Given the description of an element on the screen output the (x, y) to click on. 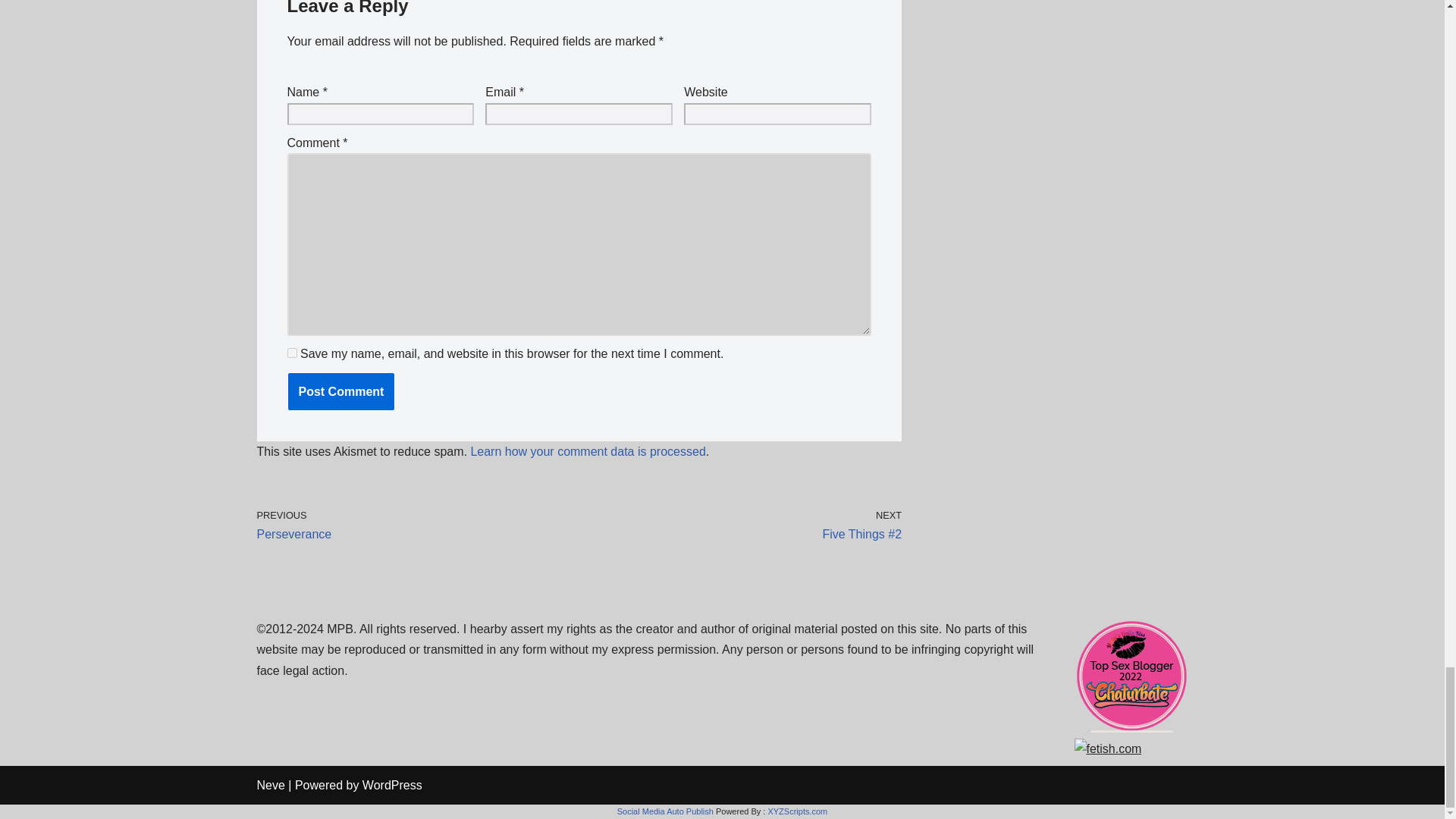
Social Media Auto Publish (665, 810)
Post Comment (340, 391)
yes (291, 352)
Top 100 Sex Bloggers 2022 (1131, 727)
